Given the description of an element on the screen output the (x, y) to click on. 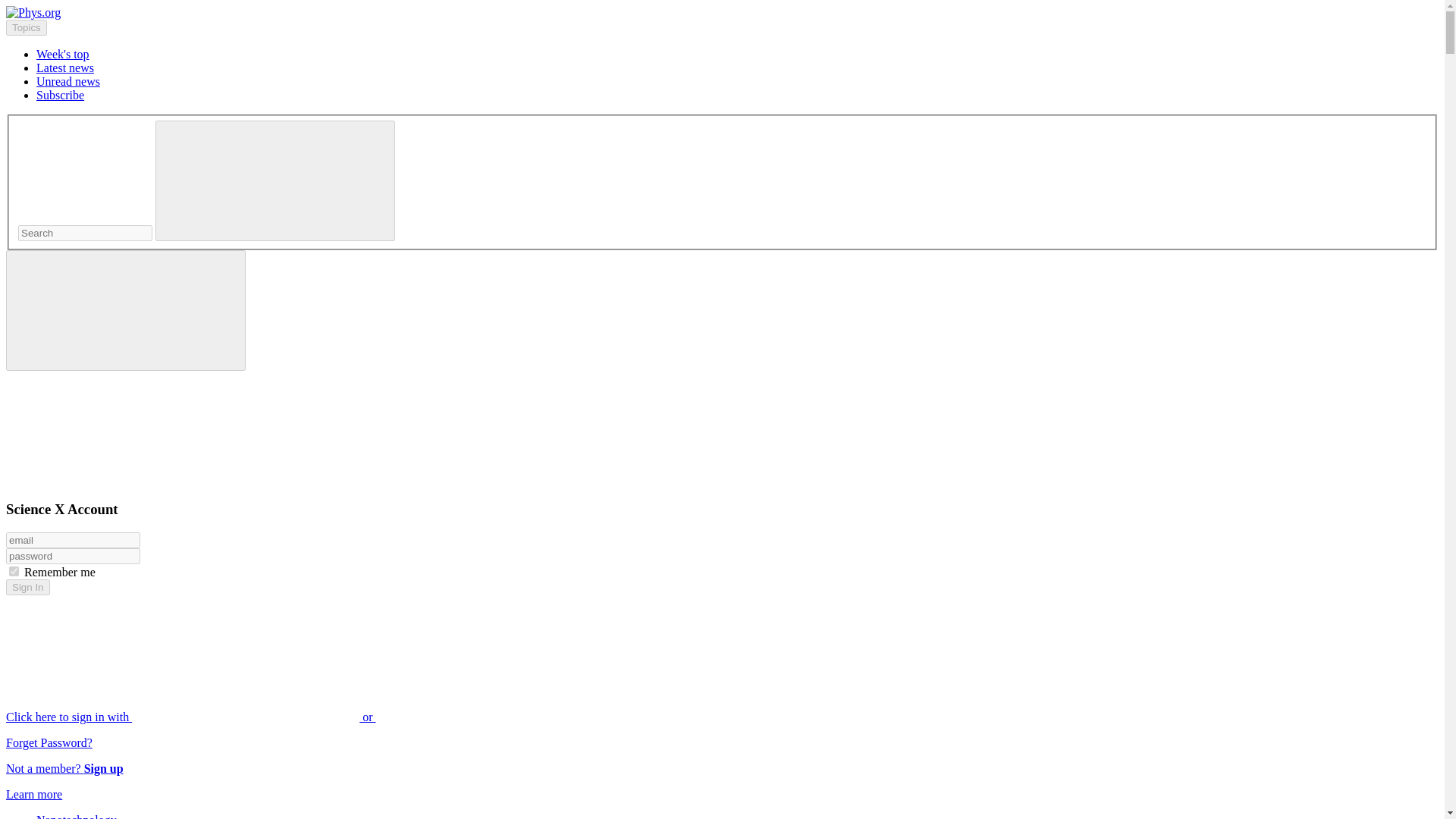
Learn more (33, 793)
Week's top (62, 53)
Unread news (68, 81)
Sign In (27, 587)
Click here to sign in with or (304, 716)
Subscribe (60, 94)
Not a member? Sign up (64, 768)
Topics (25, 27)
Latest news (65, 67)
on (13, 571)
Nanotechnology (76, 816)
Forget Password? (49, 742)
